Given the description of an element on the screen output the (x, y) to click on. 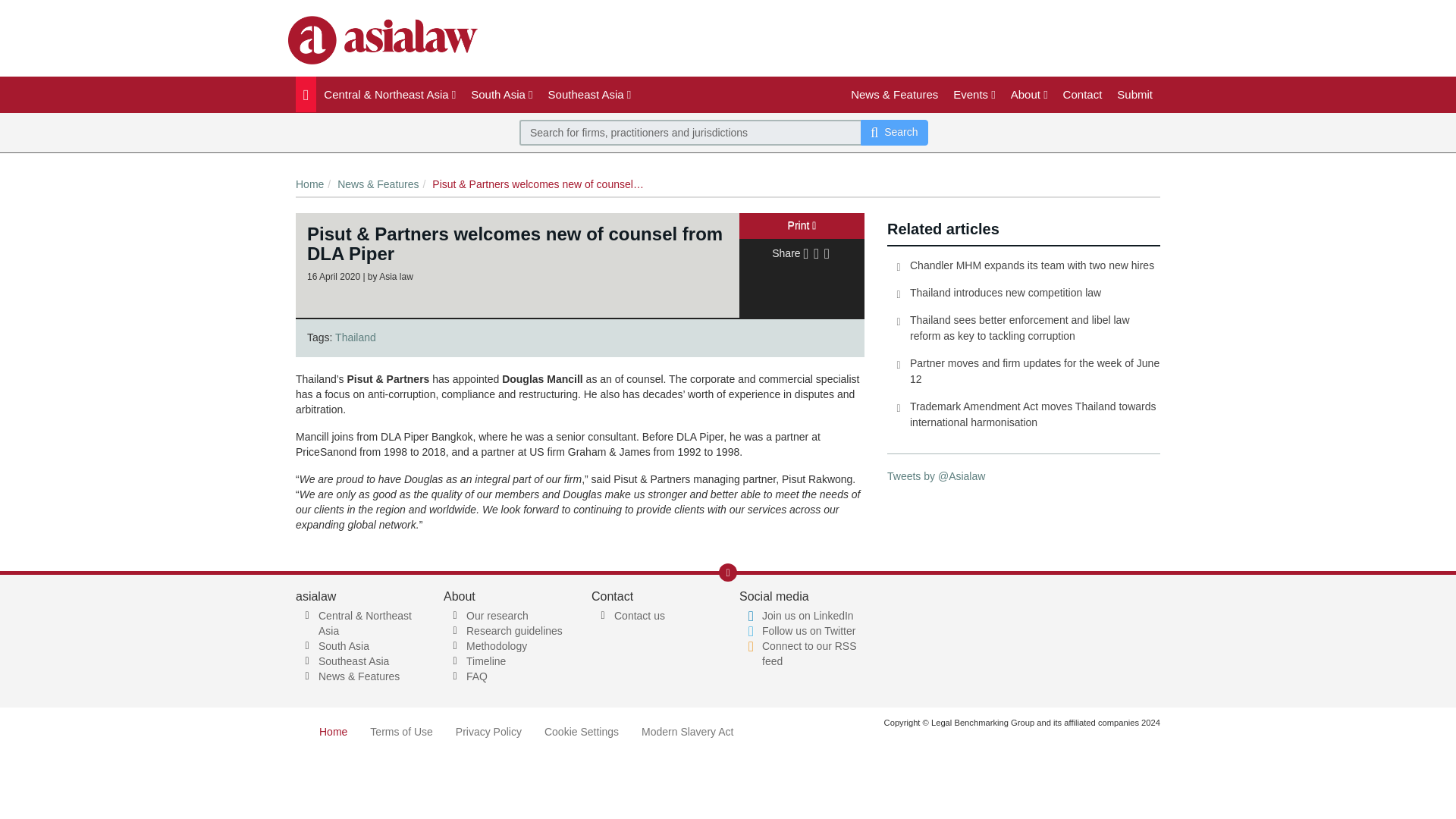
About (1029, 94)
South Asia (501, 94)
Southeast Asia (589, 94)
Events (973, 94)
South Asia (501, 94)
Southeast Asia (589, 94)
